Given the description of an element on the screen output the (x, y) to click on. 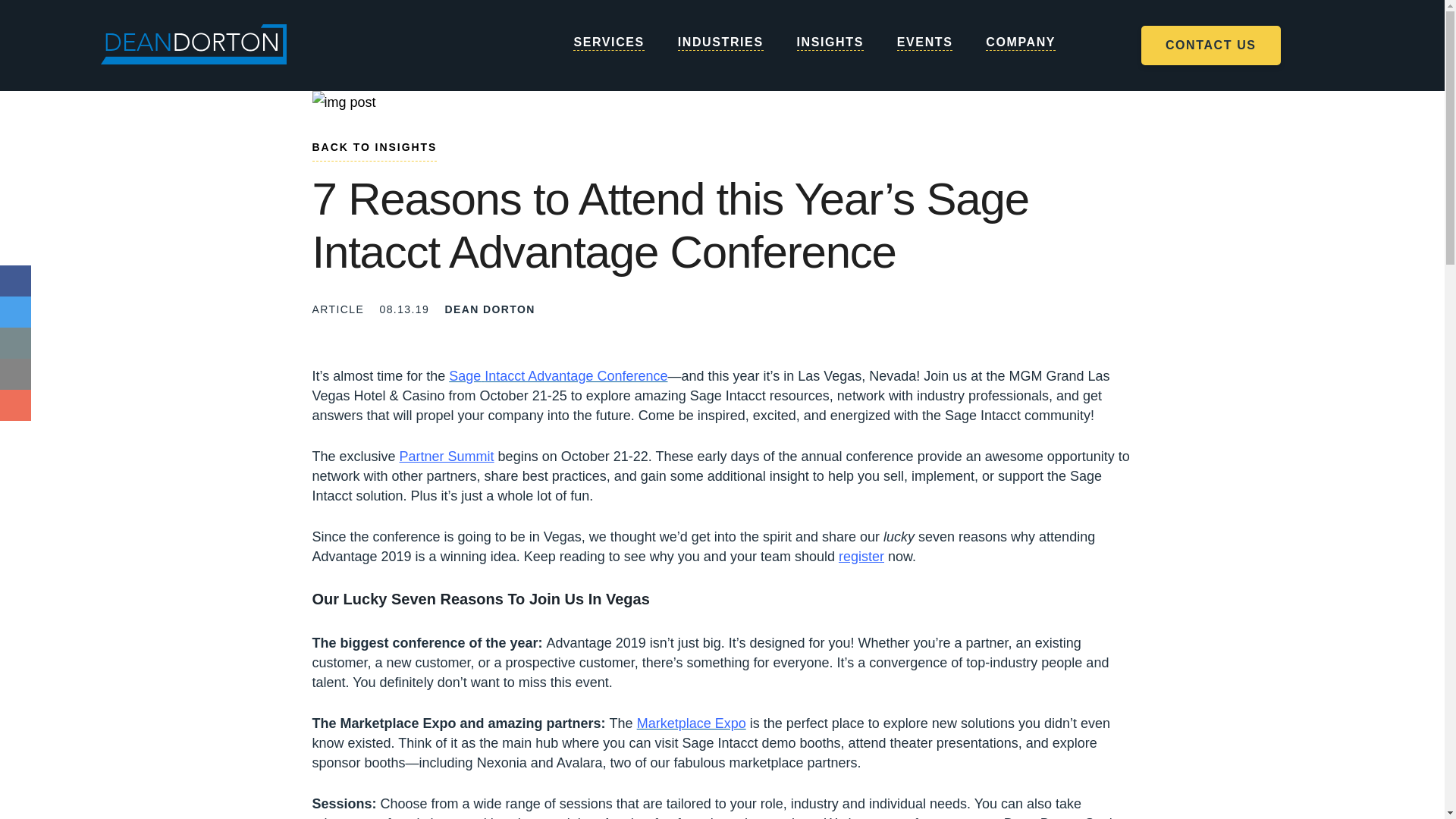
Go to Insights. (375, 150)
SERVICES (608, 57)
